Given the description of an element on the screen output the (x, y) to click on. 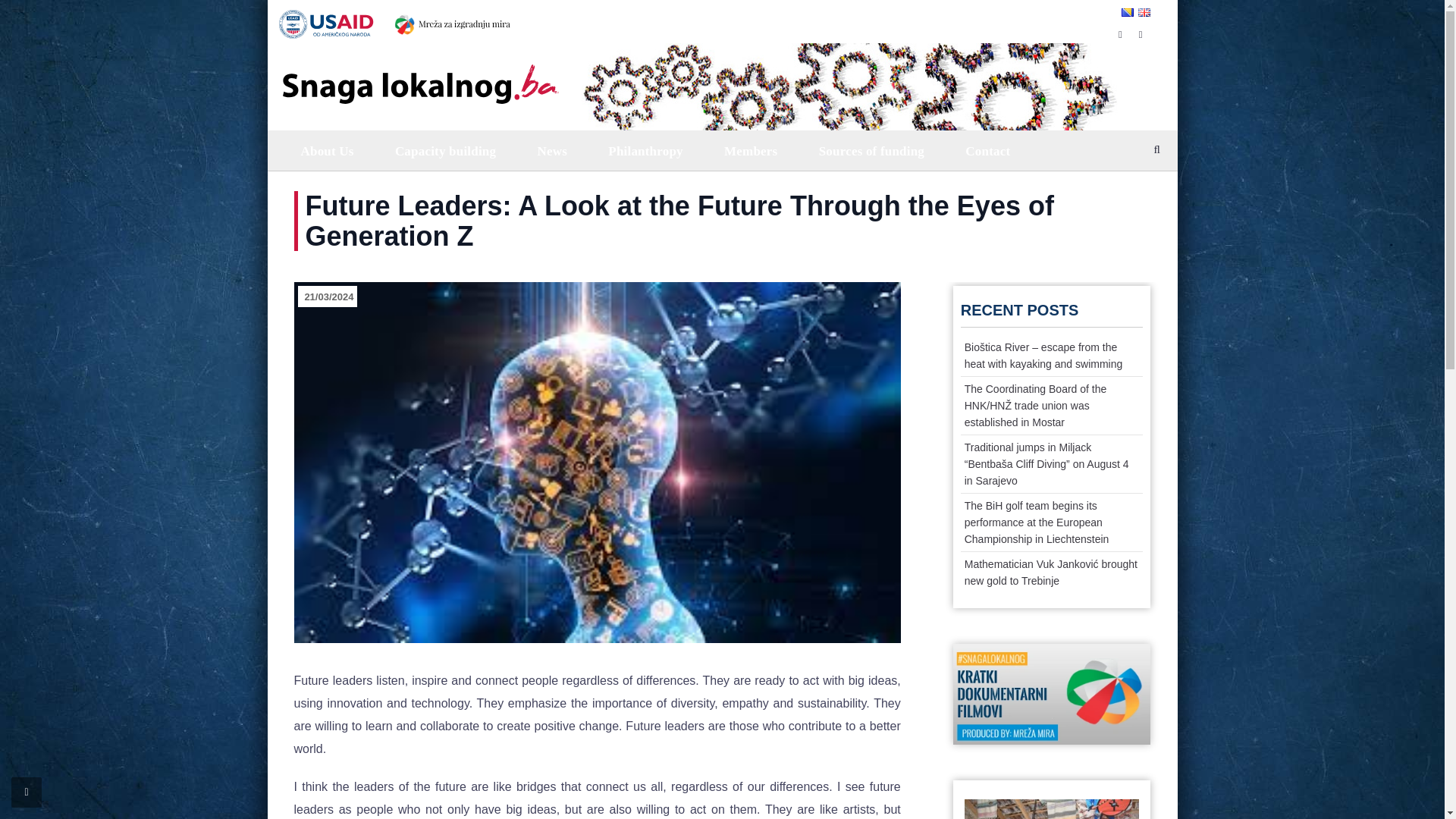
Capacity building (443, 150)
Philanthropy (643, 150)
News (550, 150)
About Us (325, 150)
Sources of funding (869, 150)
Members (748, 150)
Search (1144, 191)
Snaga lokalnog (419, 73)
Contact (986, 150)
